Given the description of an element on the screen output the (x, y) to click on. 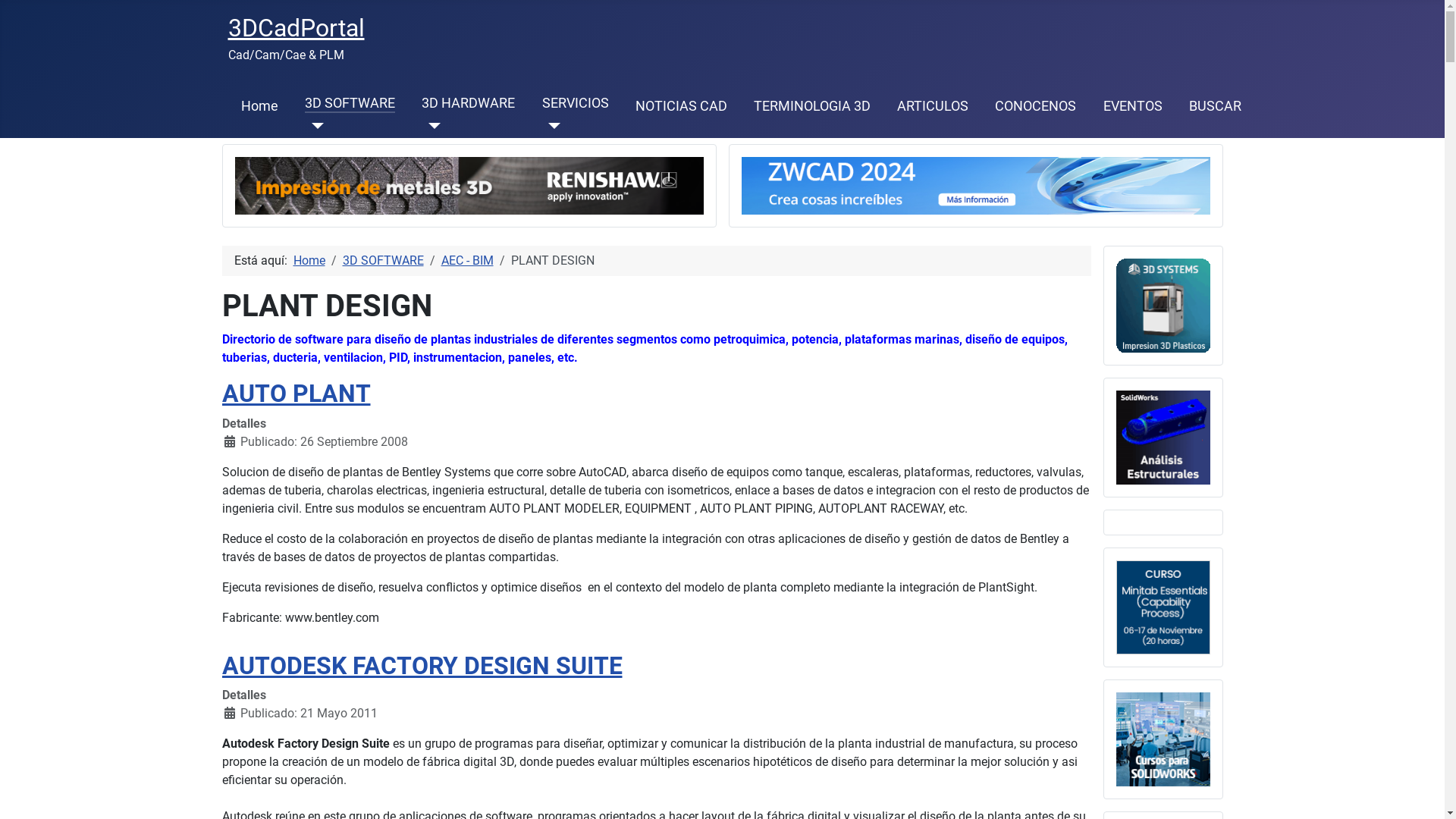
CONOCENOS Element type: text (1035, 106)
Trainex Element type: hover (1163, 606)
TERMINOLOGIA 3D Element type: text (811, 106)
NOTICIAS CAD Element type: text (681, 106)
ARTICULOS Element type: text (932, 106)
renishaw Element type: hover (469, 184)
AUTODESK FACTORY DESIGN SUITE Element type: text (421, 665)
EVENTOS Element type: text (1132, 106)
intelligy Element type: hover (1163, 738)
Home Element type: text (259, 106)
3D SOFTWARE Element type: text (349, 102)
3D HARDWARE Element type: text (467, 102)
Home Element type: text (308, 260)
3D SOFTWARE Element type: text (382, 260)
BUSCAR Element type: text (1215, 106)
zwcadfixed Element type: hover (975, 184)
ccpm Element type: hover (1163, 436)
3DCadPortal Element type: text (295, 27)
SERVICIOS Element type: text (575, 102)
3DSystems Element type: hover (1163, 305)
AUTO PLANT Element type: text (295, 393)
AEC - BIM Element type: text (467, 260)
